Given the description of an element on the screen output the (x, y) to click on. 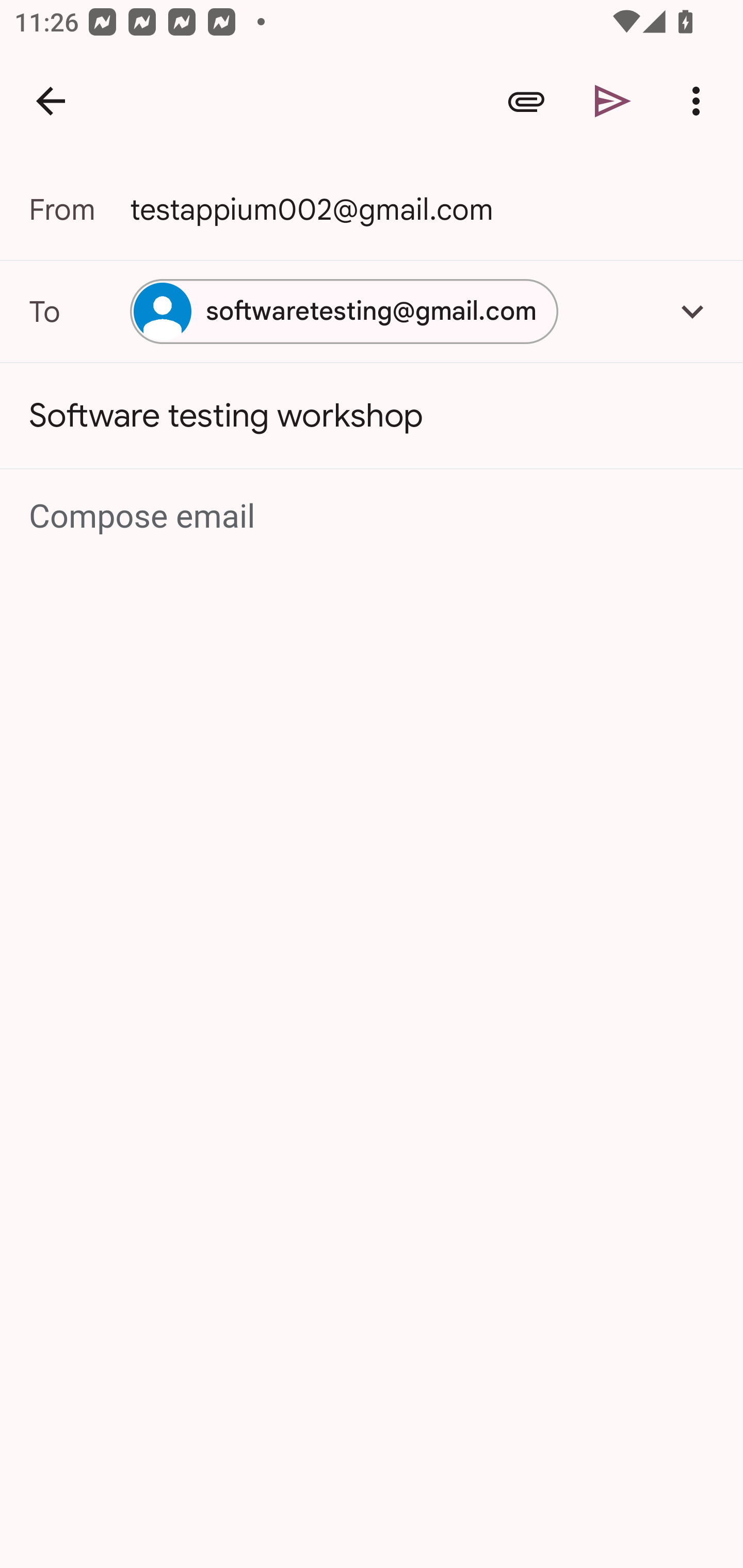
Navigate up (50, 101)
Attach file (525, 101)
Send (612, 101)
More options (699, 101)
From (79, 209)
Add Cc/Bcc (692, 311)
Software testing workshop (371, 415)
Compose email (372, 517)
